Given the description of an element on the screen output the (x, y) to click on. 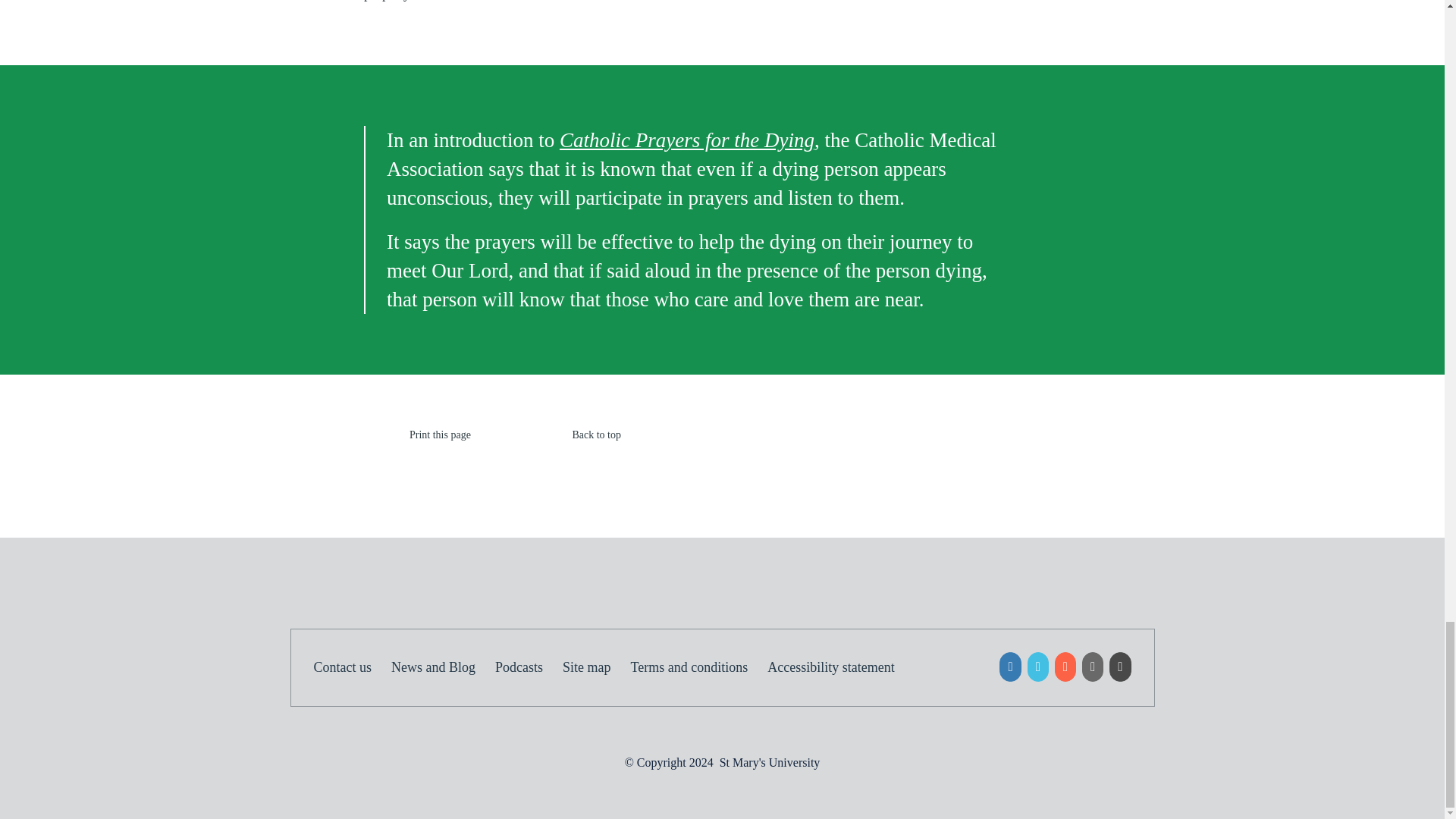
Print this page (417, 435)
Podcasts (528, 667)
Contact us (352, 667)
Catholic Prayers for the Dying (686, 139)
News and Blog (443, 667)
Back to top (573, 435)
Site map (596, 667)
